Given the description of an element on the screen output the (x, y) to click on. 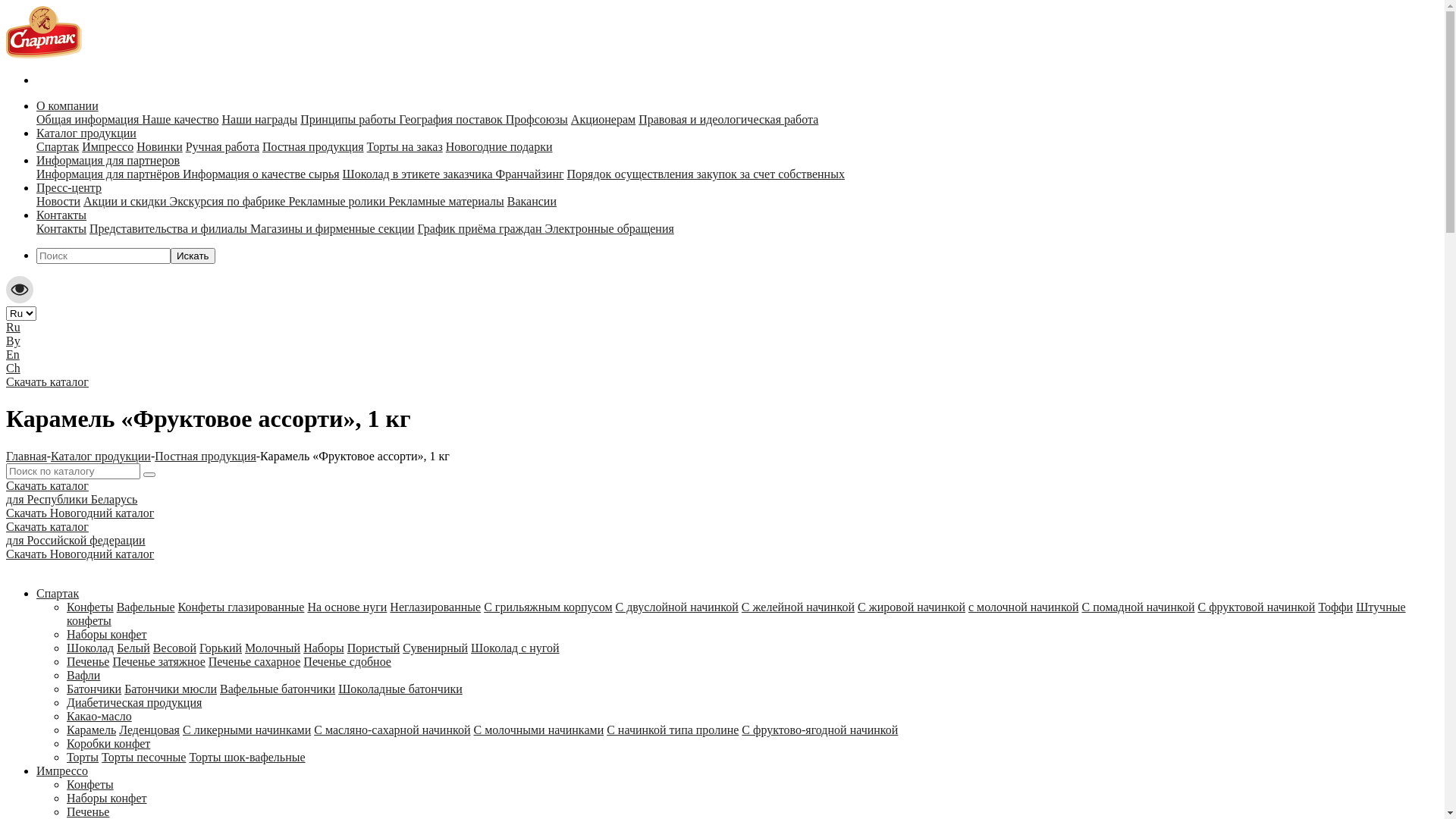
Ru Element type: text (13, 326)
En Element type: text (12, 354)
Ch Element type: text (13, 367)
By Element type: text (13, 340)
